Given the description of an element on the screen output the (x, y) to click on. 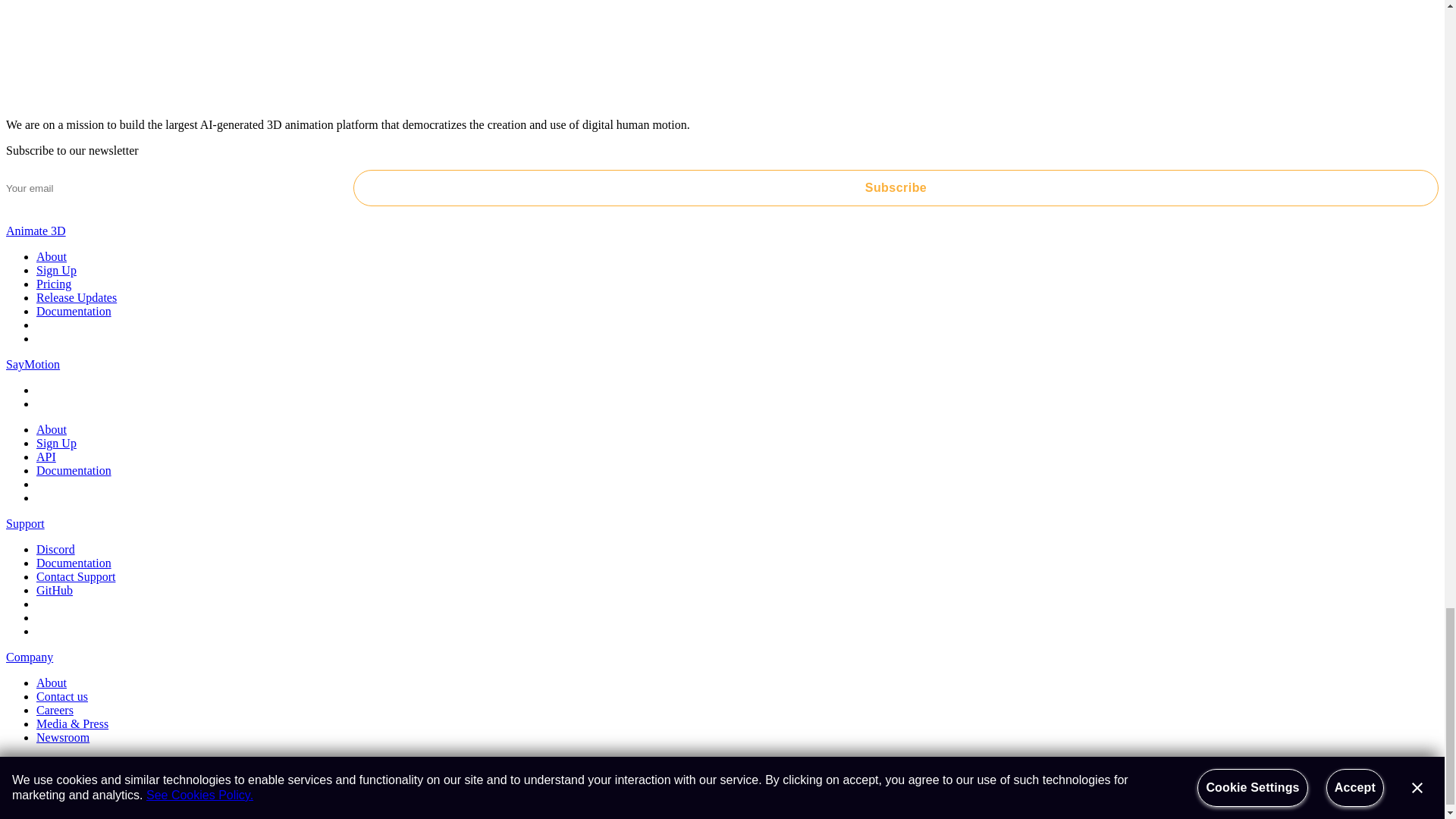
Pricing (53, 283)
Documentation (74, 310)
About (51, 256)
Release Updates (76, 297)
Sign Up (56, 269)
